Given the description of an element on the screen output the (x, y) to click on. 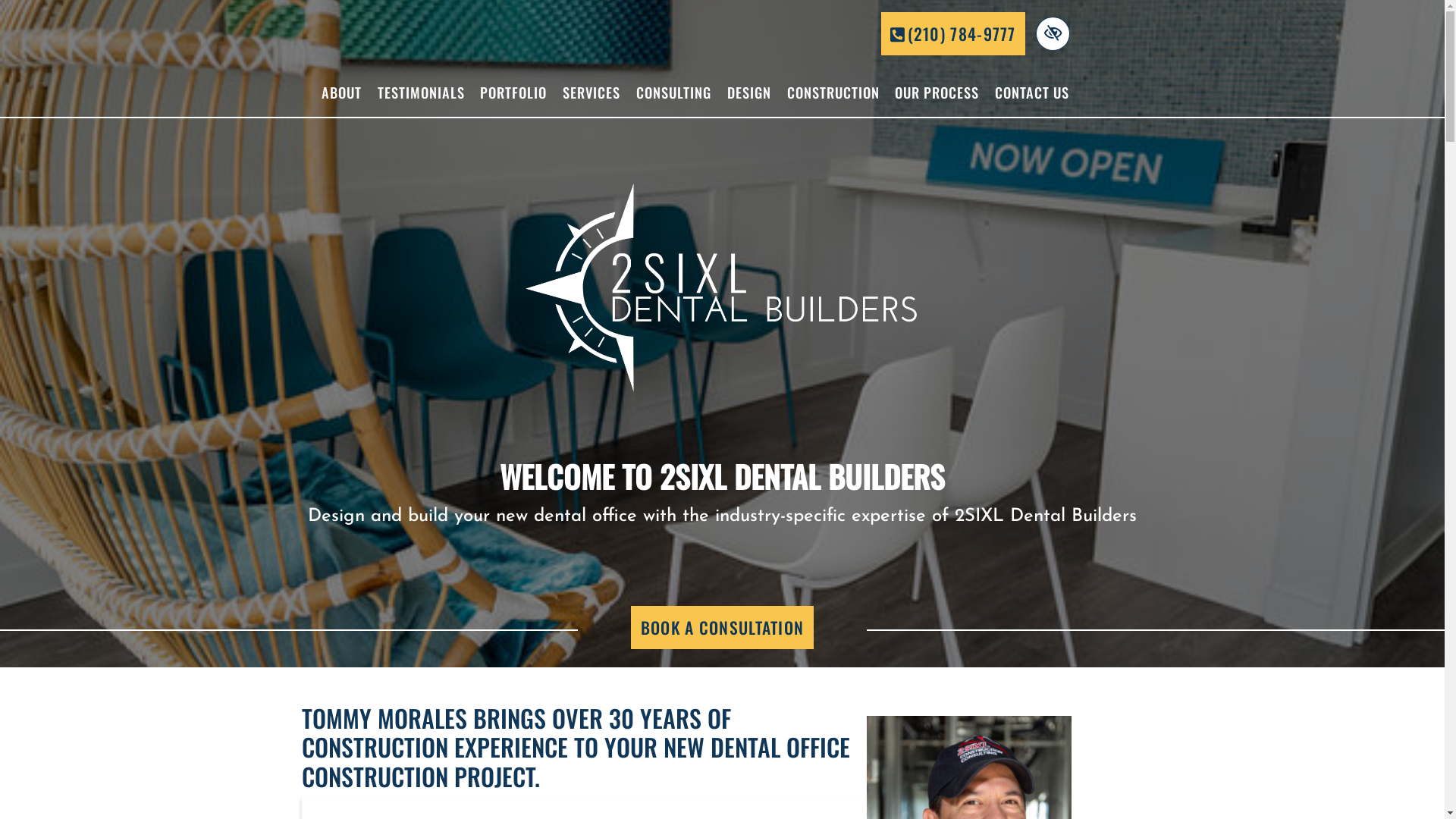
ABOUT Element type: text (341, 91)
BOOK A CONSULTATION
ABOUT Element type: text (721, 627)
(210) 784-9777 Element type: text (953, 33)
SERVICES Element type: text (591, 91)
CONSULTING Element type: text (673, 91)
DESIGN Element type: text (748, 91)
CONSTRUCTION Element type: text (832, 91)
OUR PROCESS Element type: text (937, 91)
PORTFOLIO Element type: text (513, 91)
CONTACT US Element type: text (1032, 91)
TESTIMONIALS Element type: text (420, 91)
